Given the description of an element on the screen output the (x, y) to click on. 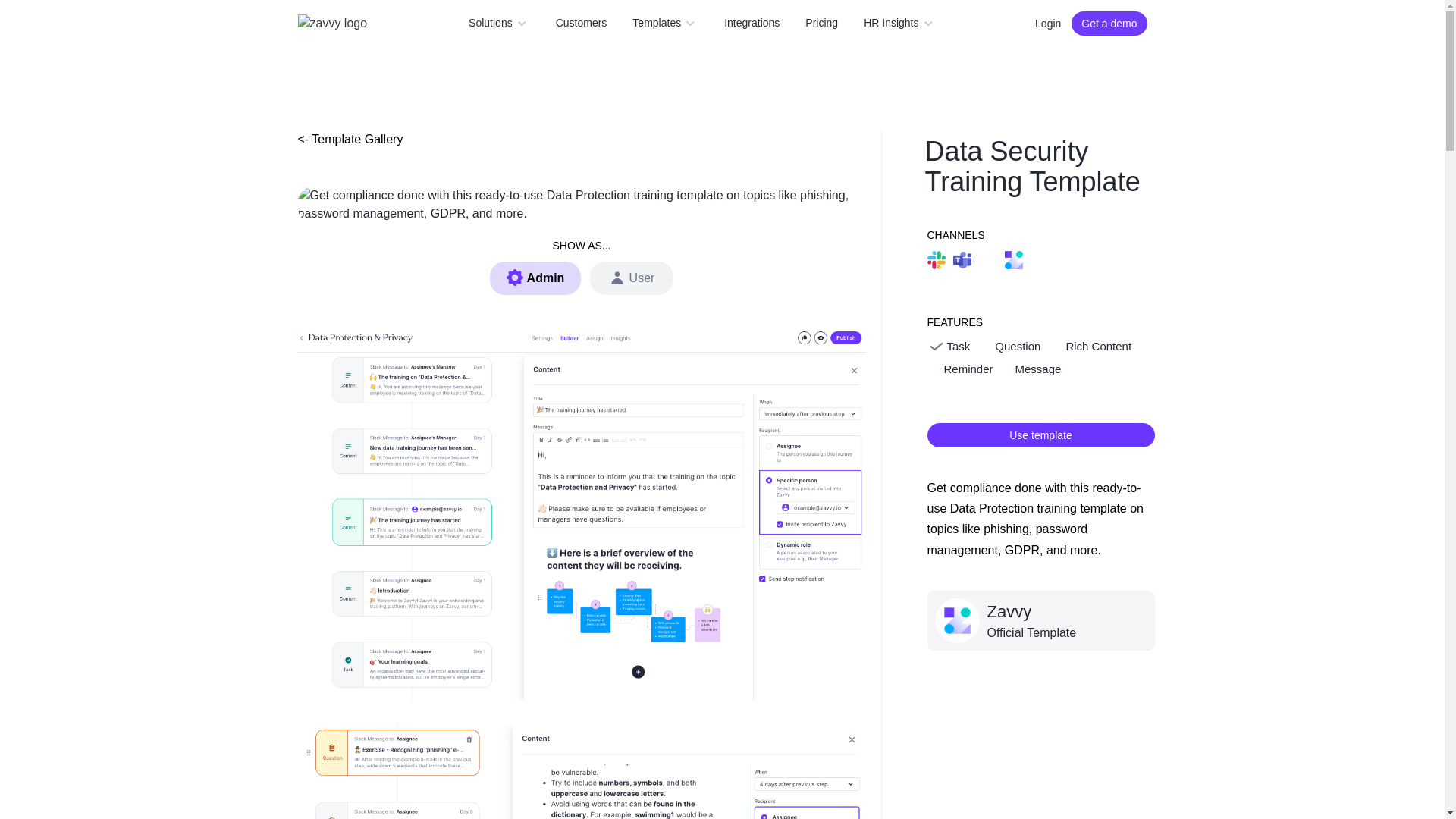
Login (1047, 23)
Get a demo (1109, 22)
Pricing (821, 22)
Integrations (751, 22)
Customers (581, 22)
